Given the description of an element on the screen output the (x, y) to click on. 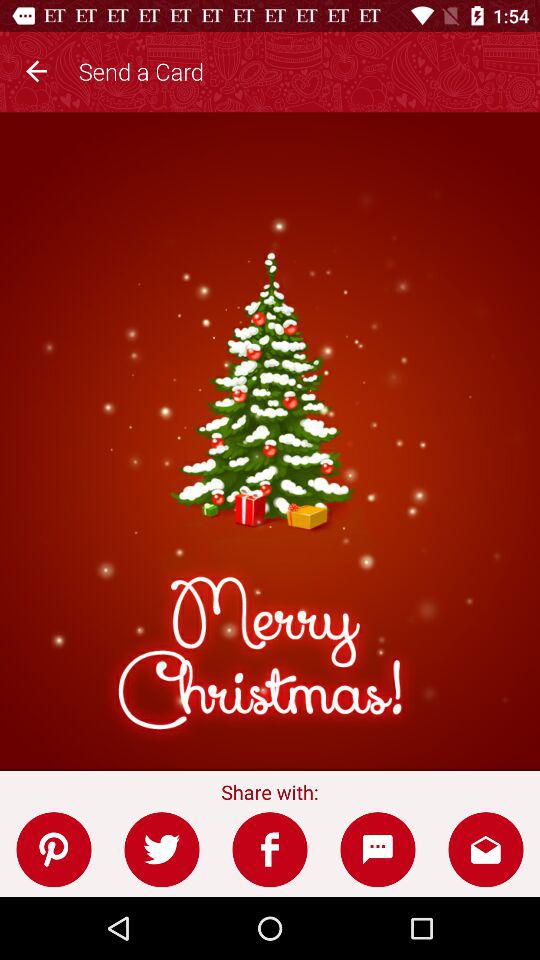
turn on item next to the send a card app (36, 68)
